Given the description of an element on the screen output the (x, y) to click on. 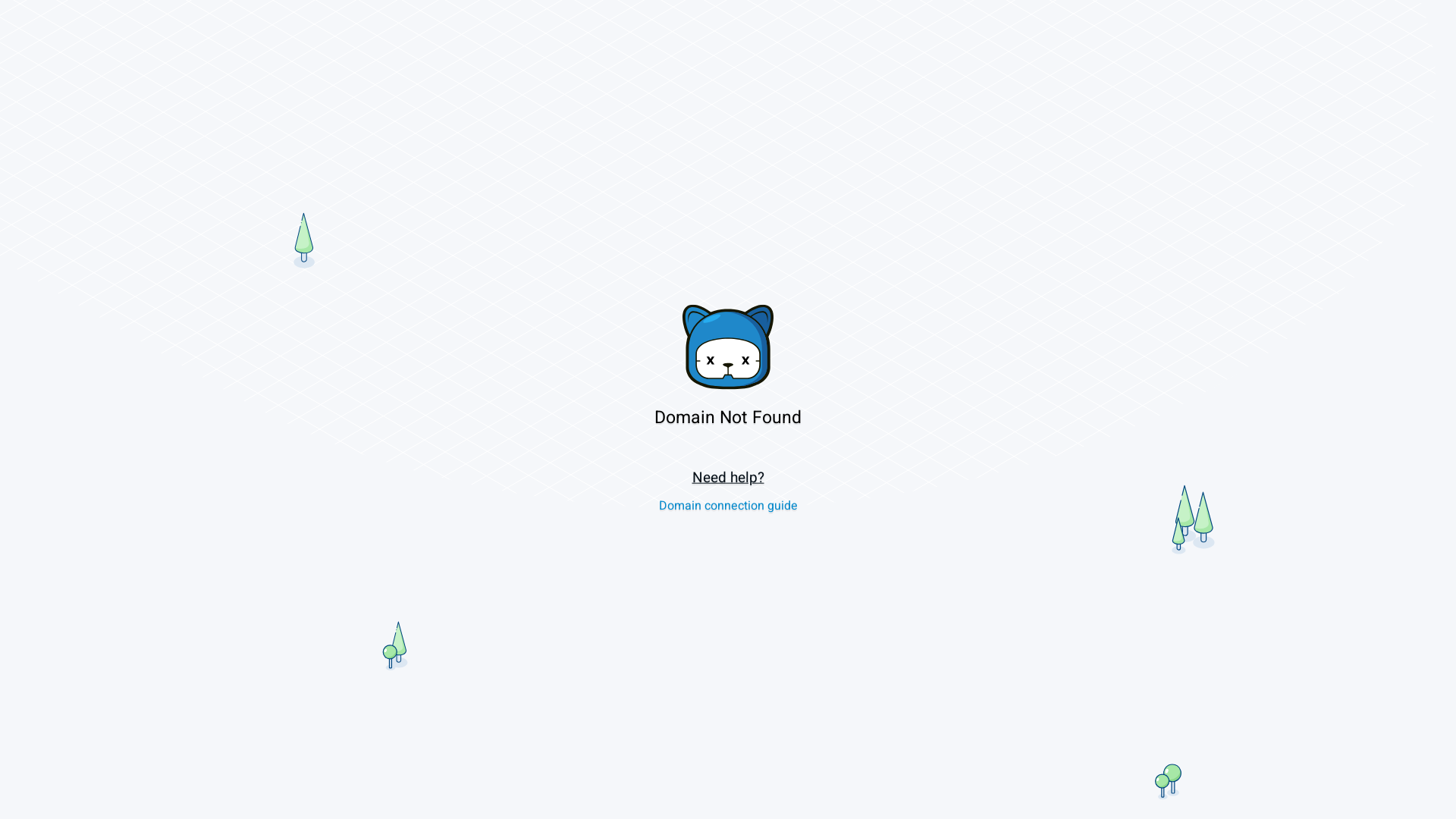
Domain connection guide Element type: text (727, 504)
